Given the description of an element on the screen output the (x, y) to click on. 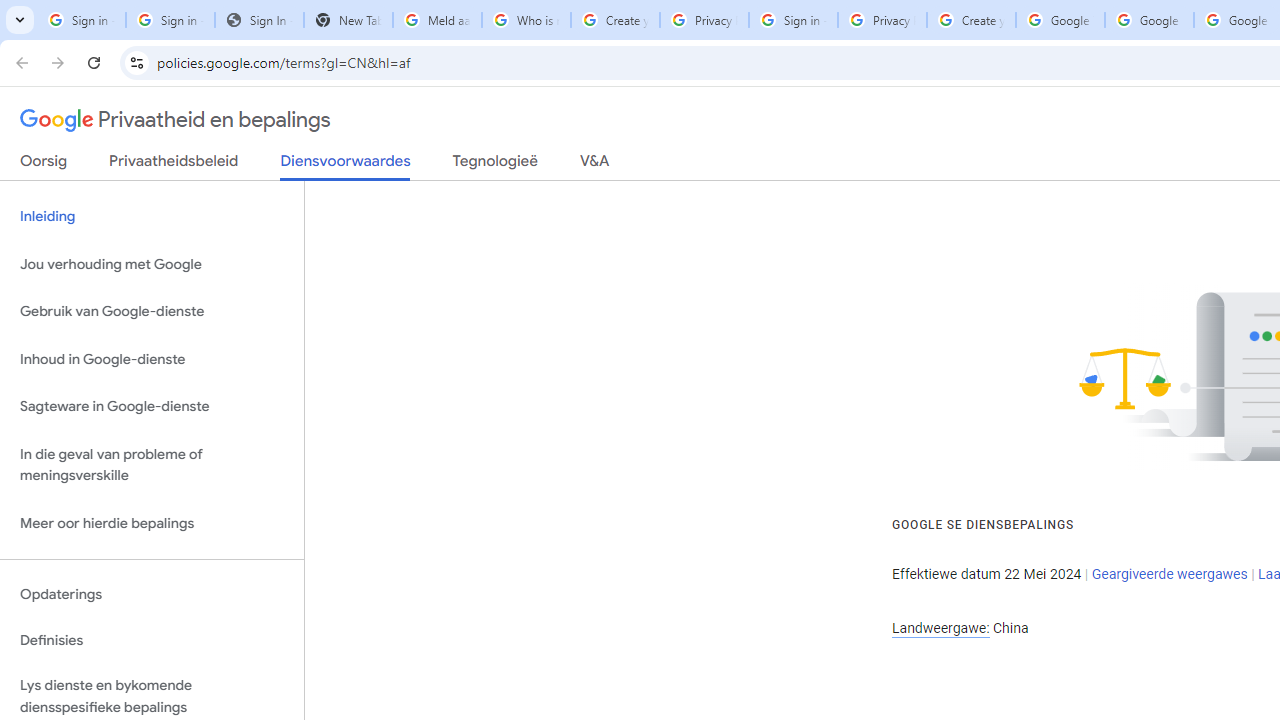
New Tab (347, 20)
Inleiding (152, 216)
V&A (594, 165)
In die geval van probleme of meningsverskille (152, 464)
Diensvoorwaardes (345, 166)
